Given the description of an element on the screen output the (x, y) to click on. 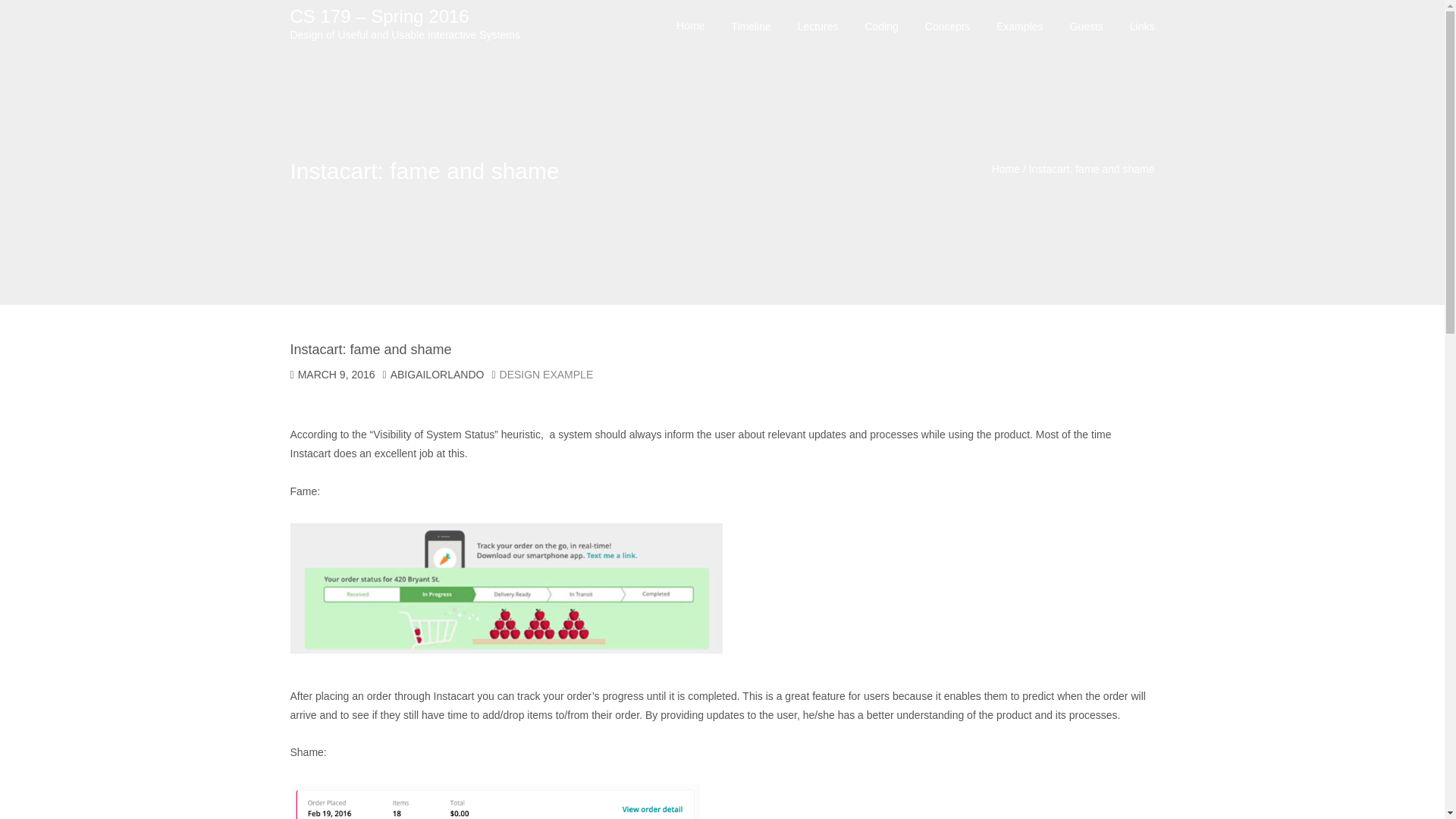
CS 179 - Spring 2016 (1005, 168)
DESIGN EXAMPLE (546, 374)
Home (1005, 168)
